Given the description of an element on the screen output the (x, y) to click on. 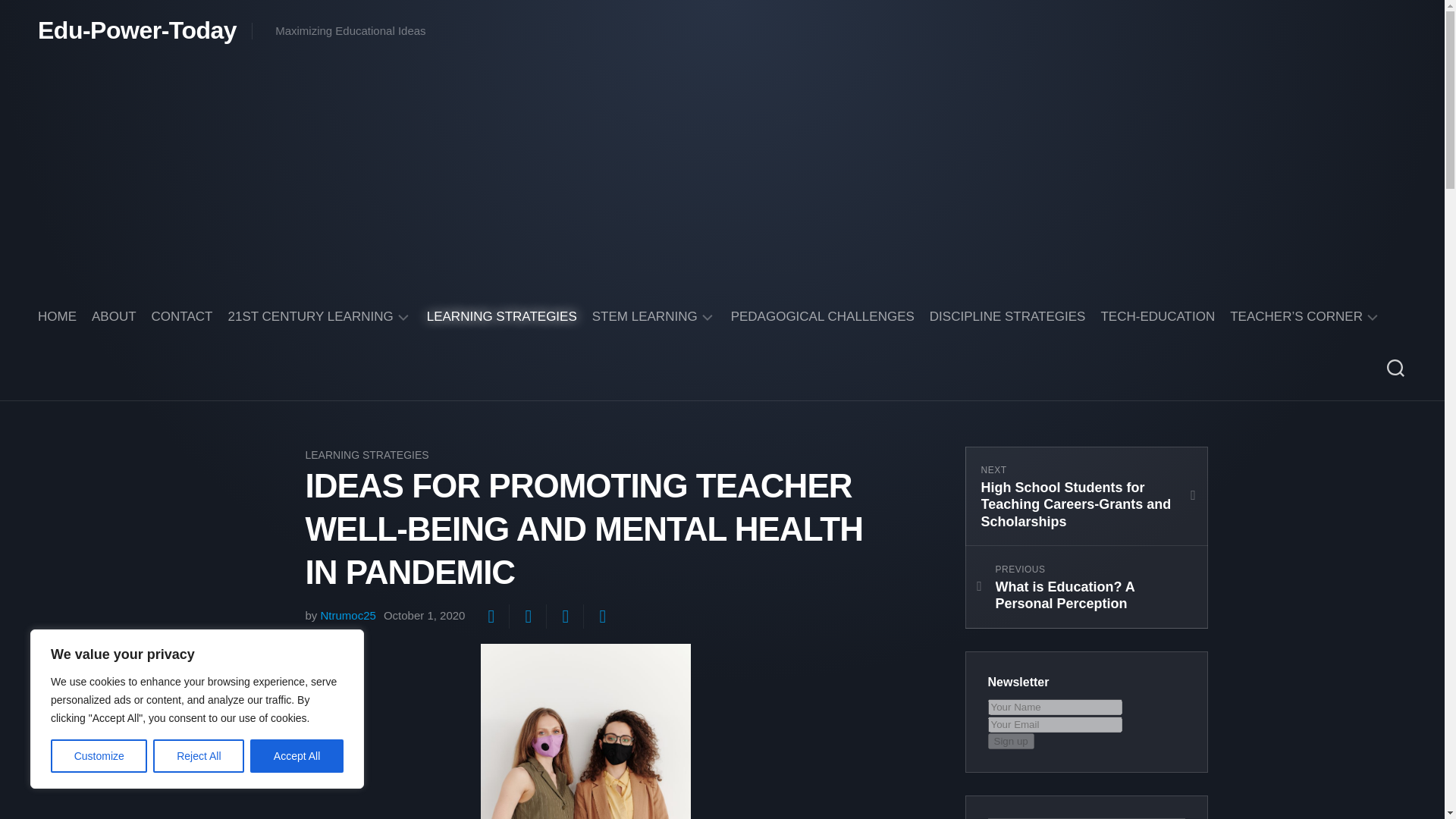
LEARNING STRATEGIES (366, 454)
Share on LinkedIn (601, 616)
Edu-Power-Today (136, 30)
Accept All (296, 756)
Sign up (1010, 741)
STEM LEARNING (644, 316)
Ntrumoc25 (347, 615)
TECH-EDUCATION (1157, 316)
LEARNING STRATEGIES (501, 316)
Share on Pinterest (564, 616)
PEDAGOGICAL CHALLENGES (822, 316)
Posts by Ntrumoc25 (347, 615)
21ST CENTURY LEARNING (310, 316)
Customize (98, 756)
HOME (57, 316)
